Given the description of an element on the screen output the (x, y) to click on. 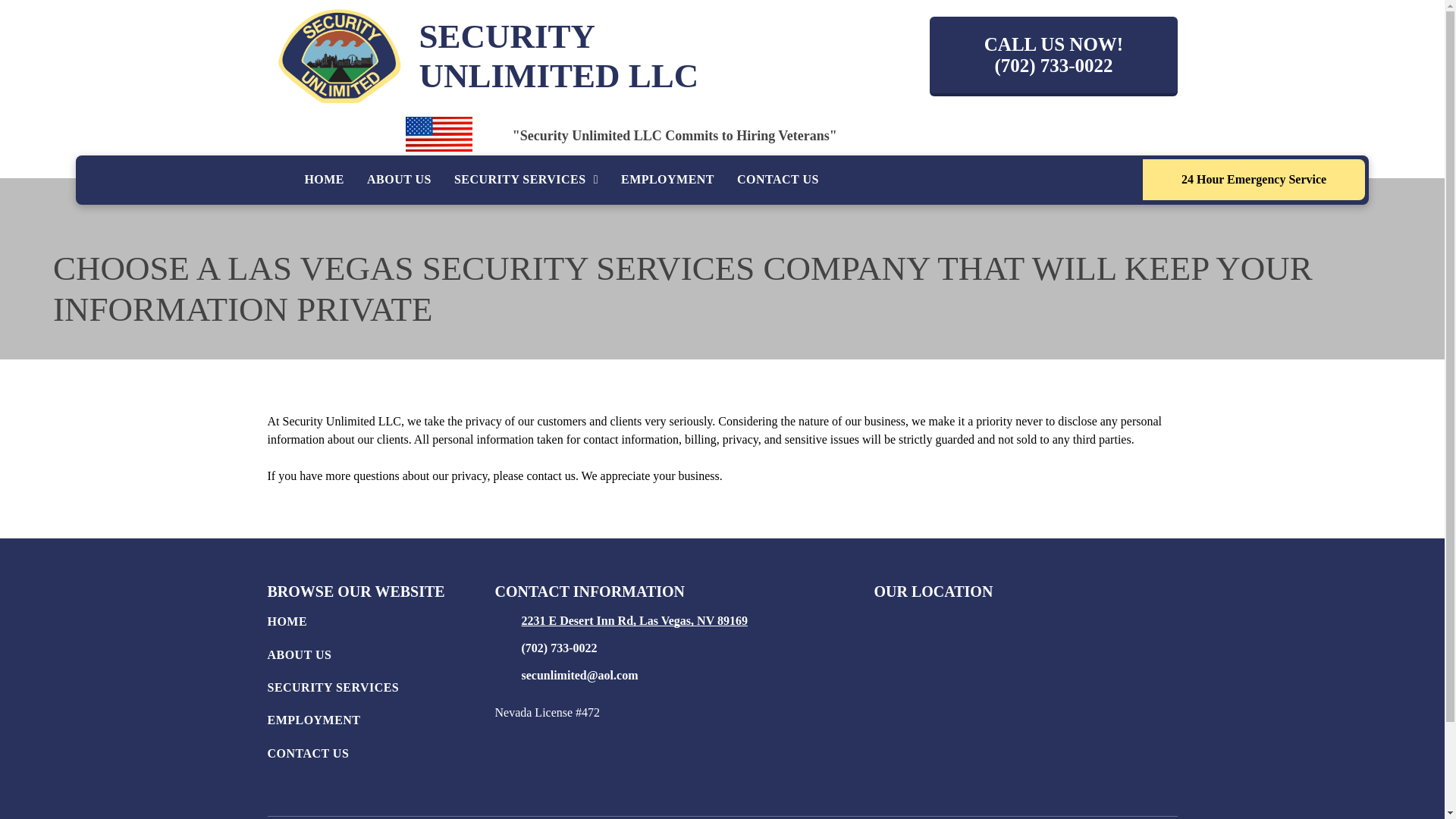
HOME (323, 180)
EMPLOYMENT (667, 180)
SECURITY SERVICES (526, 180)
EMPLOYMENT (380, 723)
Security Unlimited (338, 56)
ABOUT US (380, 657)
ABOUT US (398, 180)
SECURITY UNLIMITED LLC (558, 56)
CONTACT US (777, 180)
HOME (380, 625)
SECURITY SERVICES (380, 690)
CONTACT US (380, 756)
